Given the description of an element on the screen output the (x, y) to click on. 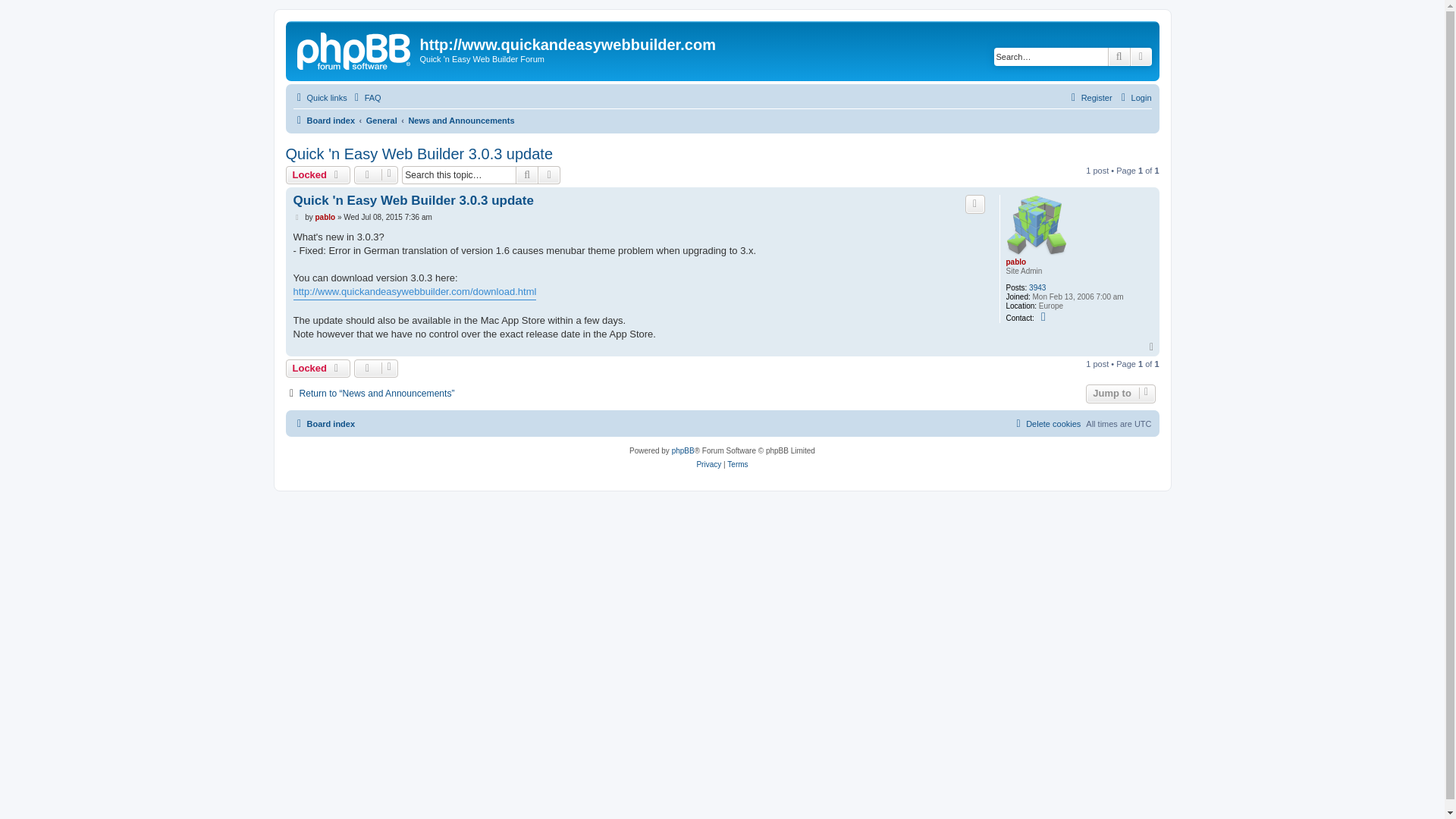
General (381, 120)
Register (1089, 97)
Search (526, 175)
pablo (324, 216)
Quick 'n Easy Web Builder 3.0.3 update (419, 153)
Board index (323, 120)
Search (1119, 56)
Quick 'n Easy Web Builder 3.0.3 update (412, 200)
Advanced search (1141, 56)
Frequently Asked Questions (365, 97)
Board index (354, 49)
Board index (323, 120)
Login (1134, 97)
Advanced search (1141, 56)
News and Announcements (460, 120)
